Given the description of an element on the screen output the (x, y) to click on. 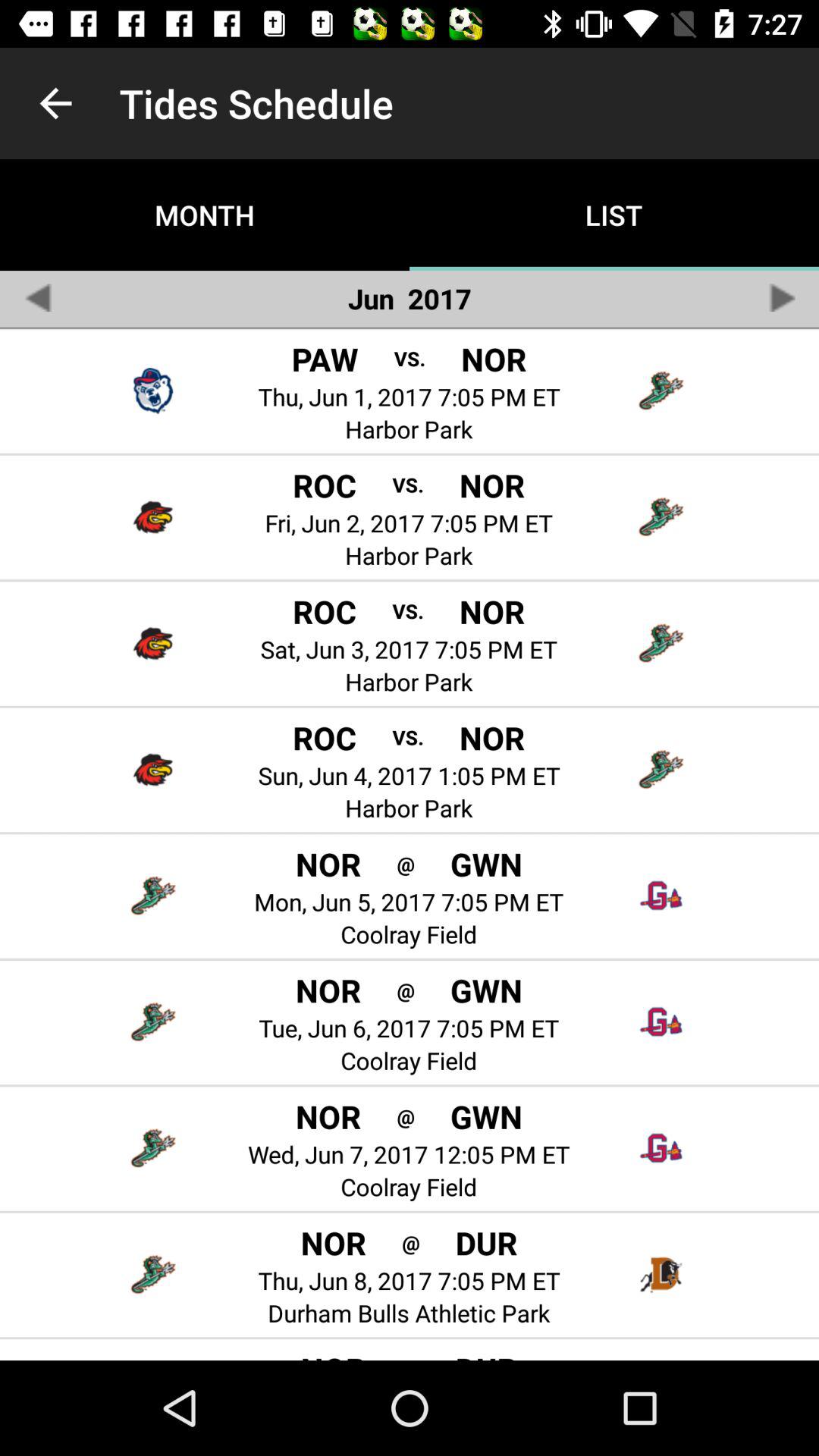
open the item next to the nor icon (405, 1115)
